Given the description of an element on the screen output the (x, y) to click on. 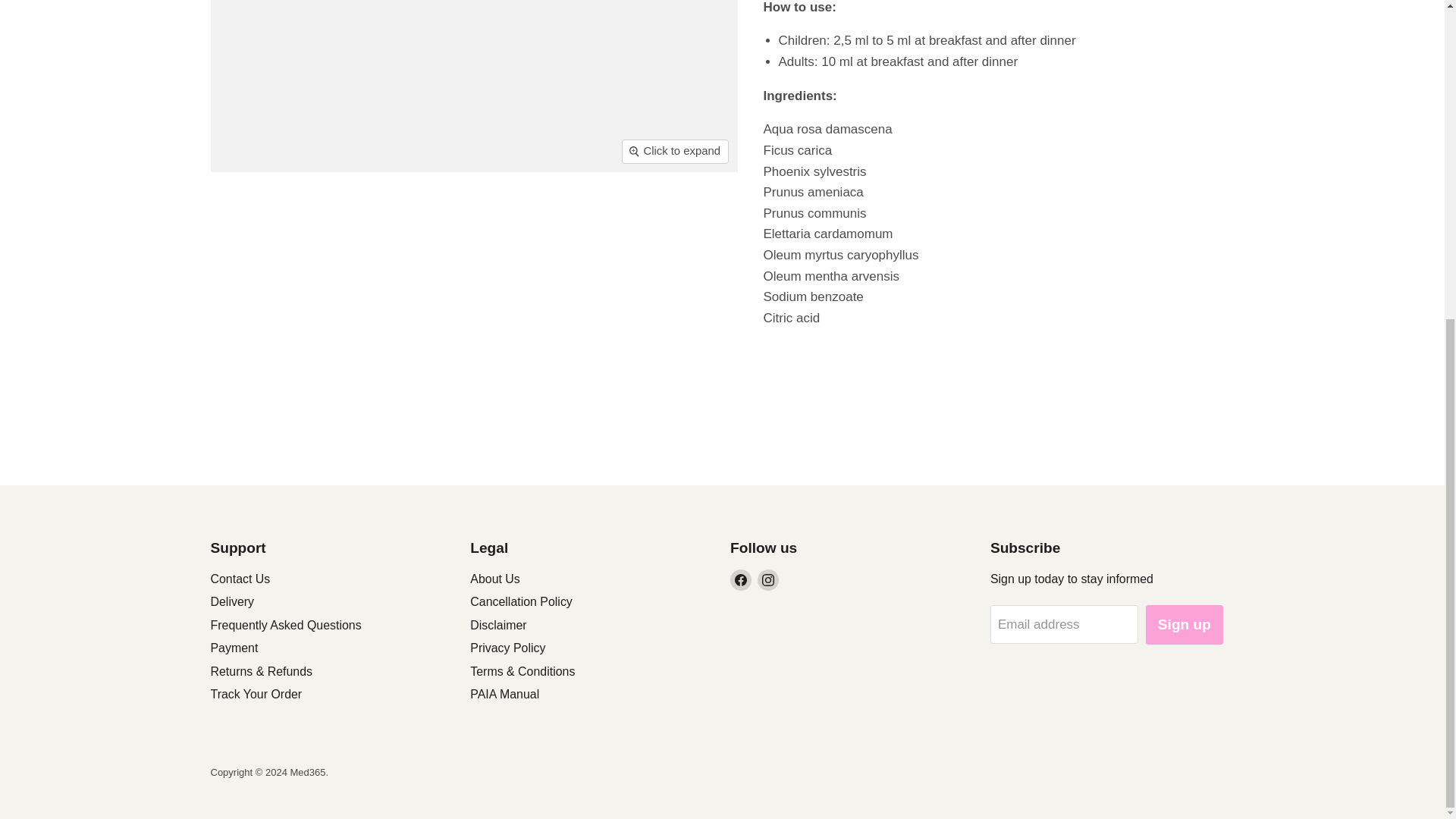
Instagram (767, 579)
Click to expand (675, 151)
Sign up (1184, 624)
Cancellation Policy (521, 601)
PAIA Manual (504, 694)
Find us on Instagram (767, 579)
Privacy Policy (507, 647)
Frequently Asked Questions (286, 625)
Contact Us (240, 578)
Find us on Facebook (740, 579)
